Given the description of an element on the screen output the (x, y) to click on. 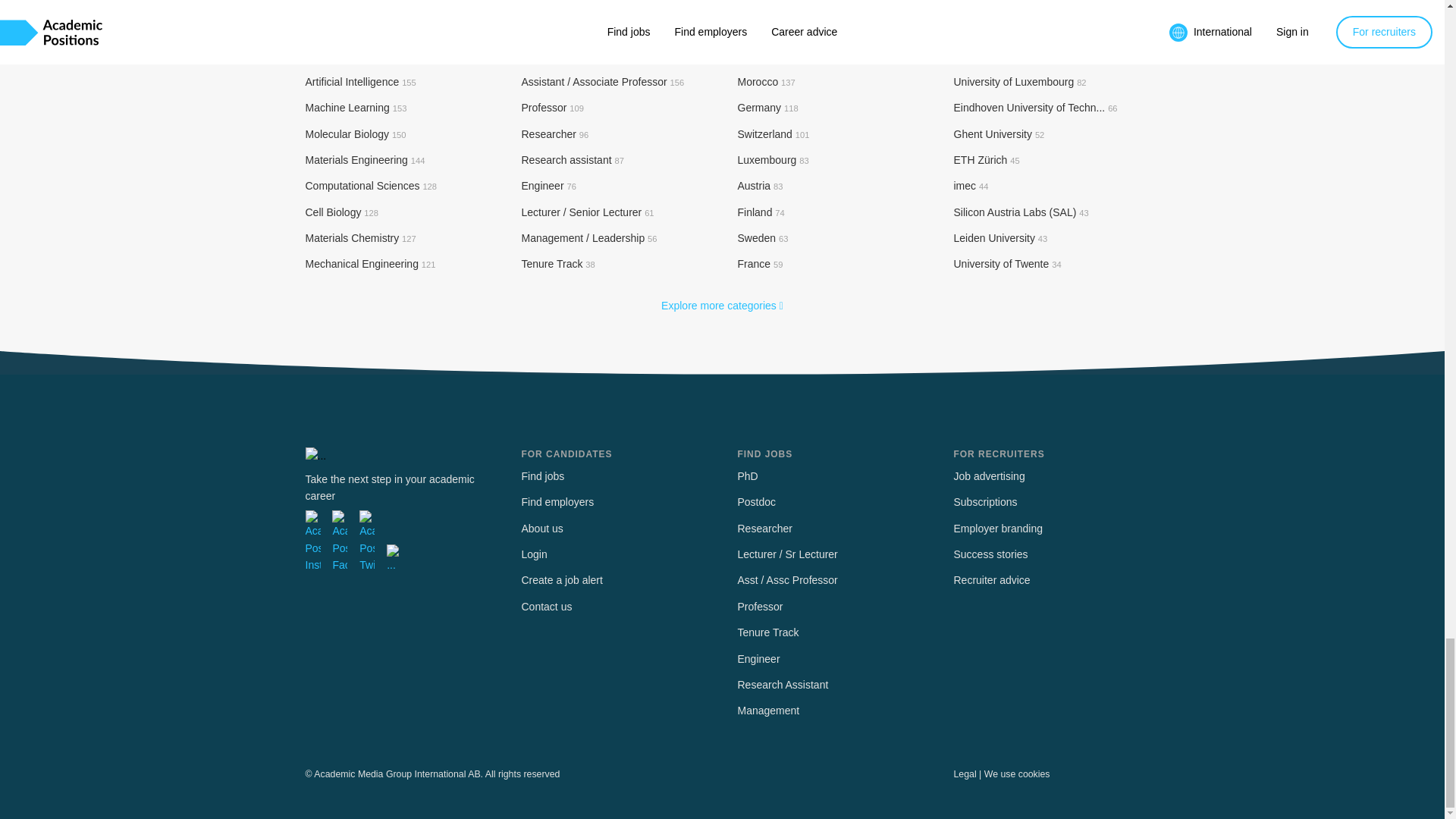
Artificial Intelligence (359, 81)
Molecular Biology (355, 133)
Mechanical Engineering (369, 263)
PhD (540, 29)
Electrical Engineering (364, 29)
Materials Chemistry (359, 237)
Professor (552, 107)
Postdoc (548, 55)
Programming Languages (372, 55)
Research assistant (572, 159)
